Given the description of an element on the screen output the (x, y) to click on. 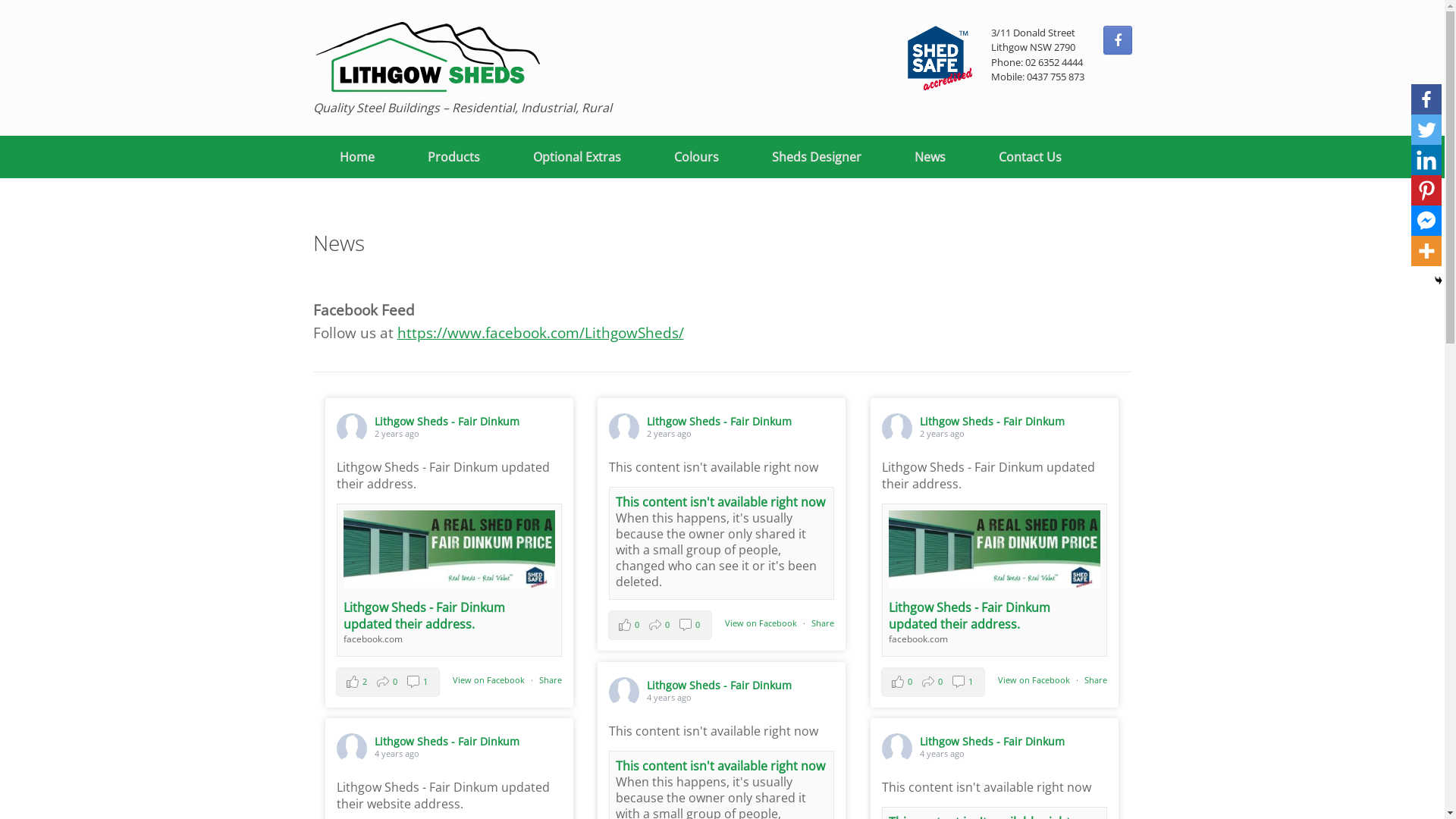
Hide Element type: hover (1438, 280)
Lithgow Sheds - Fair Dinkum updated their address. Element type: text (969, 615)
LITHGOW SHEDS Element type: hover (439, 56)
Twitter Element type: hover (1426, 129)
Skip to content Element type: text (0, 0)
Share Element type: text (550, 678)
View on Facebook Element type: text (1033, 678)
Products Element type: text (452, 156)
Home Element type: text (356, 156)
Lithgow Sheds - Fair Dinkum Element type: text (446, 421)
Pinterest Element type: hover (1426, 190)
Sheds Designer Element type: text (815, 156)
Lithgow Sheds - Fair Dinkum Element type: text (991, 741)
Share Element type: text (822, 622)
Share Element type: text (1095, 678)
Linkedin Element type: hover (1426, 159)
View Comments
Likes:
2
Shares:
0
Comments:
1 Element type: text (387, 681)
View Comments
Likes:
0
Shares:
0
Comments:
0 Element type: text (659, 625)
View on Facebook Element type: text (760, 622)
More Element type: hover (1426, 250)
Optional Extras Element type: text (576, 156)
LITHGOW SHEDS Facebook Element type: hover (1116, 39)
Lithgow Sheds - Fair Dinkum Element type: text (446, 741)
Lithgow Sheds - Fair Dinkum updated their address. Element type: text (424, 615)
Facebook Element type: hover (1426, 99)
Contact Us Element type: text (1030, 156)
Lithgow Sheds - Fair Dinkum Element type: text (718, 421)
Lithgow Sheds - Fair Dinkum Element type: text (991, 421)
This content isn't available right now Element type: text (720, 765)
View Comments
Likes:
0
Shares:
0
Comments:
1 Element type: text (932, 681)
Colours Element type: text (696, 156)
https://www.facebook.com/LithgowSheds/ Element type: text (540, 332)
View on Facebook Element type: text (488, 678)
News Element type: text (929, 156)
Lithgow Sheds - Fair Dinkum Element type: text (718, 684)
This content isn't available right now Element type: text (720, 501)
